Given the description of an element on the screen output the (x, y) to click on. 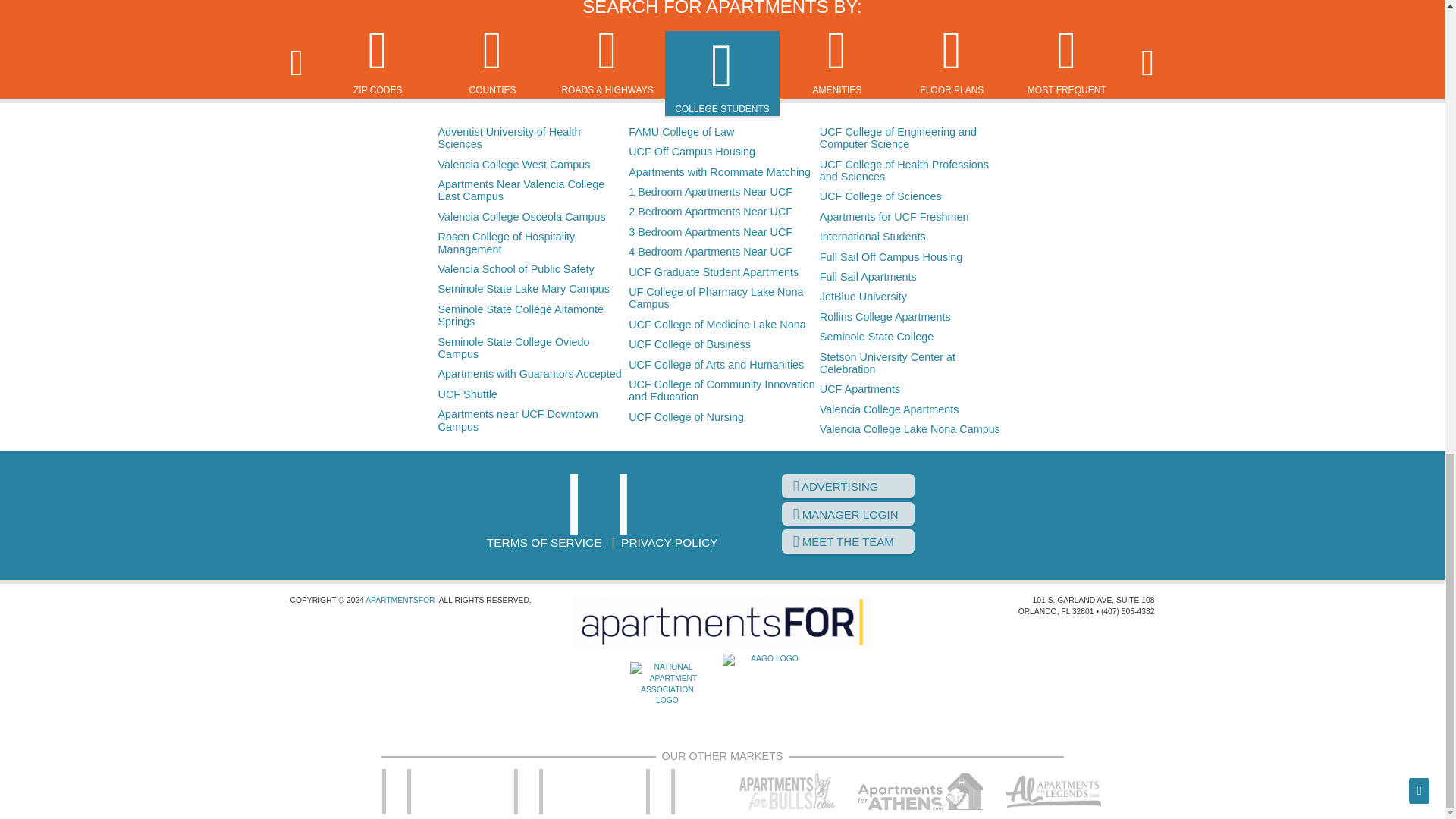
COUNTIES (492, 60)
MOST FREQUENT (1067, 60)
ZIP CODES (377, 60)
Orlando, FL Apartments (601, 504)
COLLEGE STUDENTS (722, 75)
AMENITIES (837, 60)
FLOOR PLANS (951, 60)
Terms of Service (544, 542)
